Given the description of an element on the screen output the (x, y) to click on. 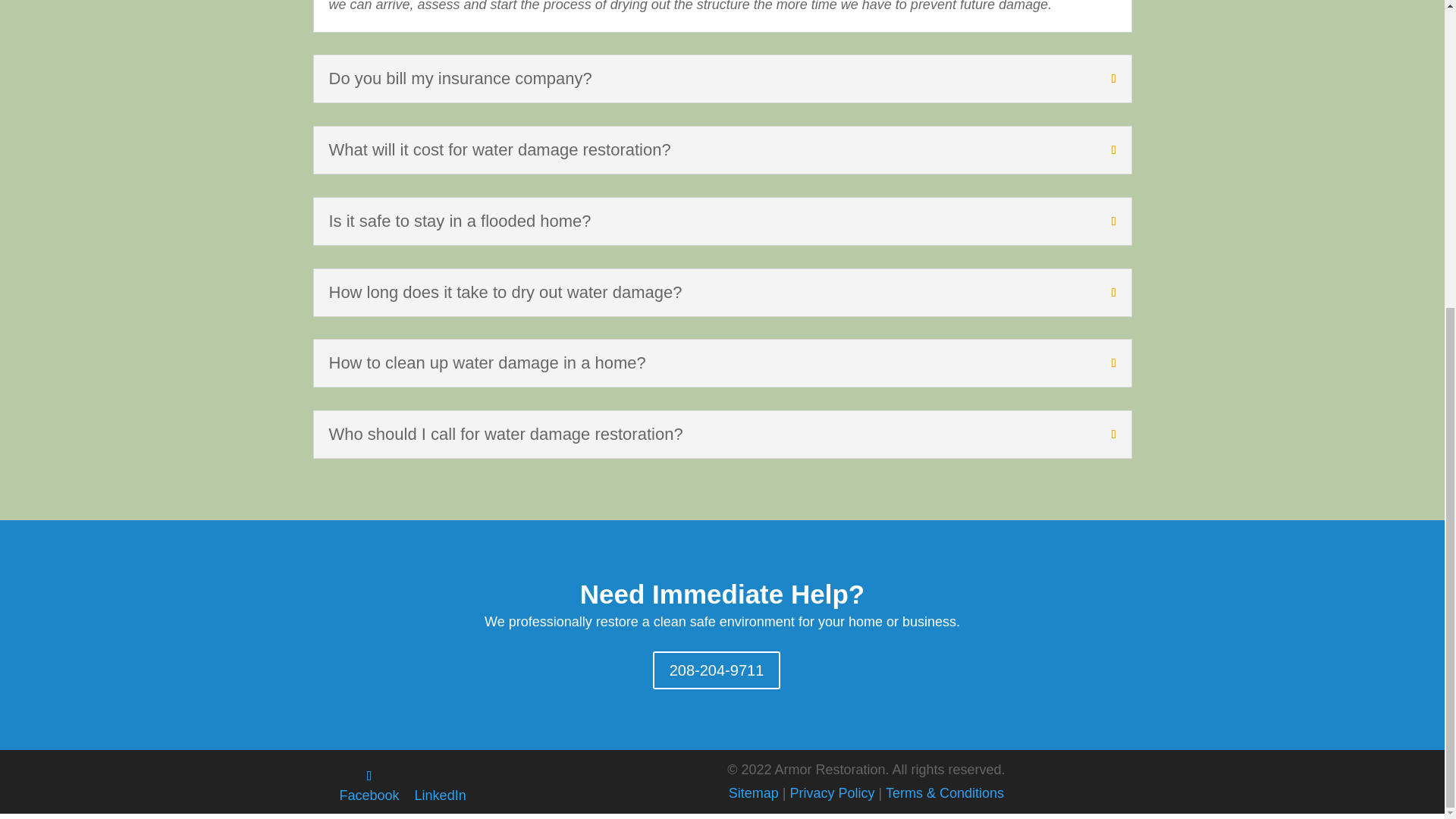
Privacy Policy (832, 792)
Sitemap (753, 792)
Facebook (368, 785)
208-204-9711 (716, 670)
